Given the description of an element on the screen output the (x, y) to click on. 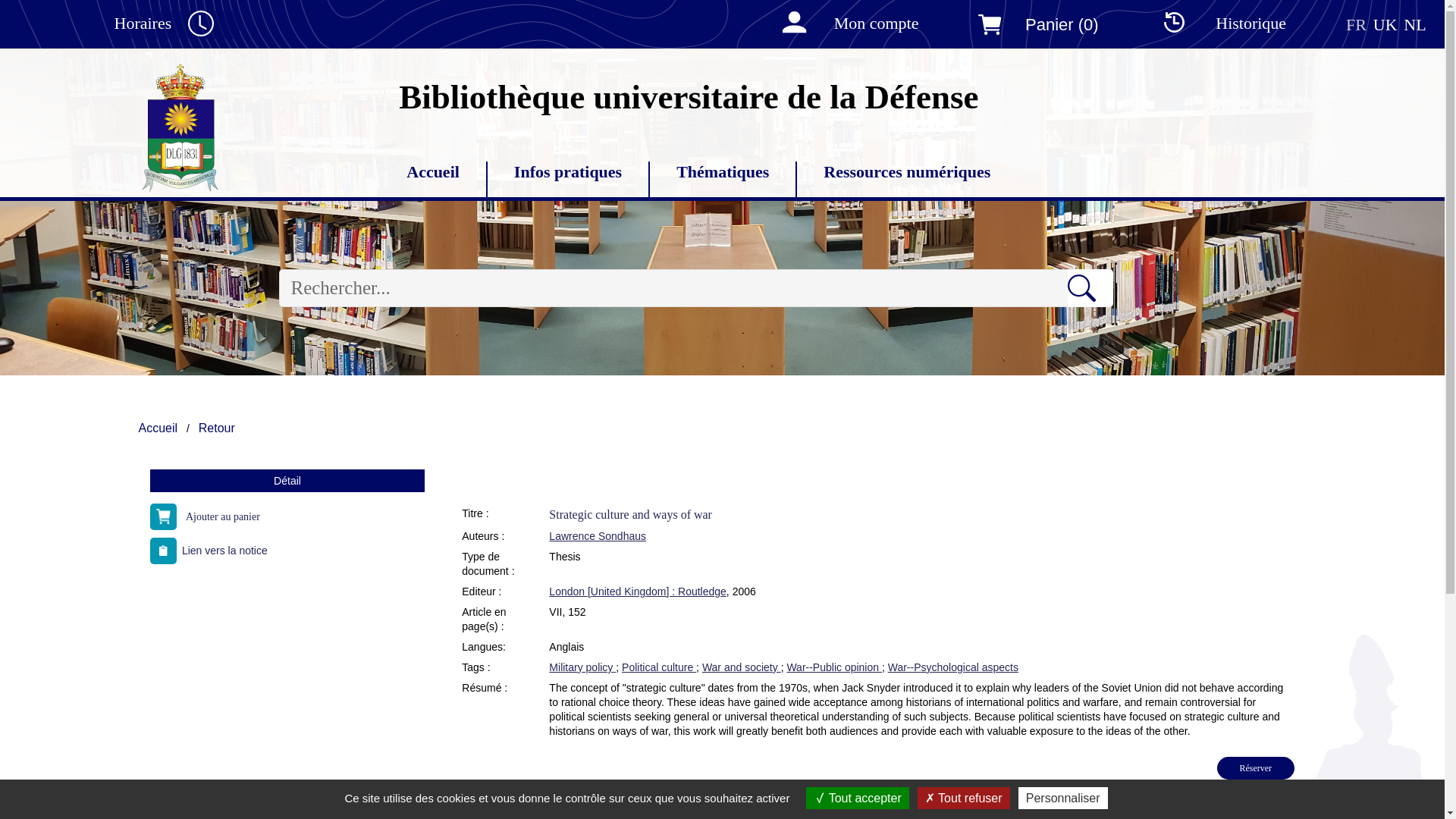
Accueil (433, 172)
Rechercher (1090, 288)
Historique (1216, 24)
Logo portail (180, 126)
NL (1414, 24)
Infos pratiques (567, 172)
Historique des recherches (1216, 24)
Accueil (433, 172)
UK (1385, 24)
Horaires (177, 24)
Mon compte (841, 24)
Infos pratiques (567, 172)
FR (1356, 24)
